Given the description of an element on the screen output the (x, y) to click on. 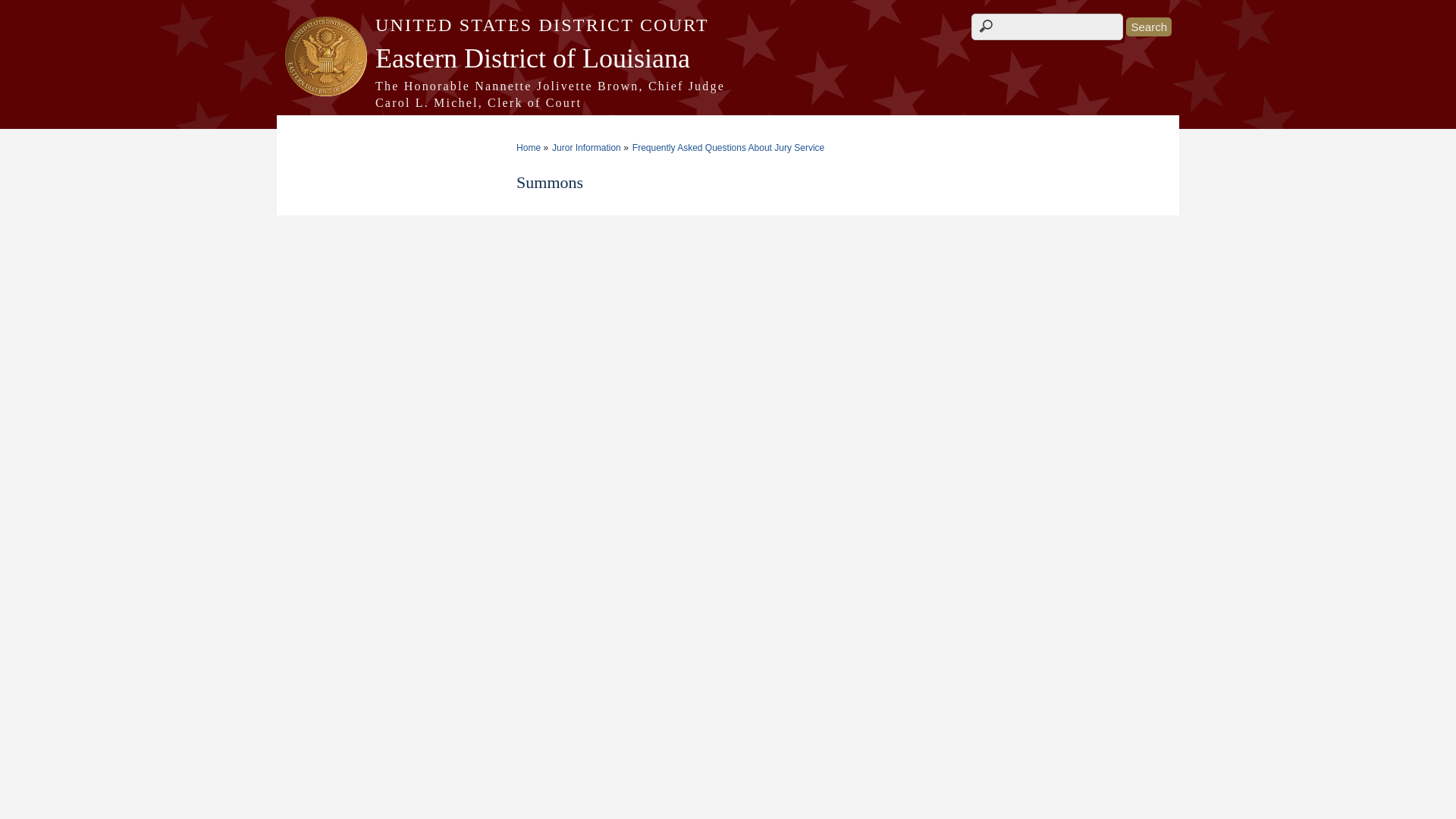
Home (727, 57)
Search (1148, 26)
Enter the terms you wish to search for. (1046, 26)
Eastern District of Louisiana (727, 57)
Home (727, 25)
Search (1148, 26)
Home (727, 94)
UNITED STATES DISTRICT COURT (727, 25)
